Given the description of an element on the screen output the (x, y) to click on. 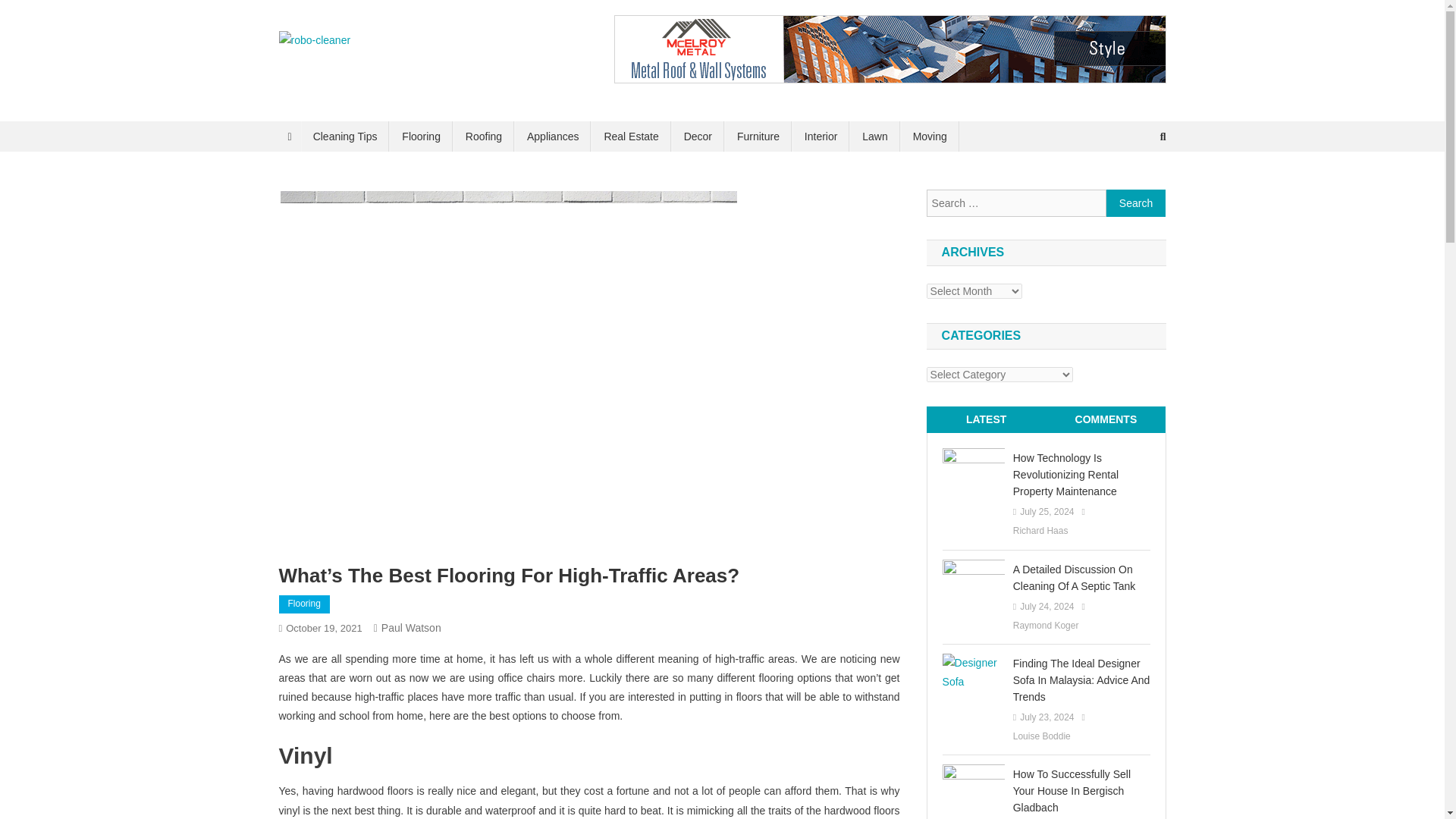
Search (1136, 203)
Moving (930, 136)
Search (1136, 203)
Paul Watson (411, 627)
Real Estate (630, 136)
Interior (821, 136)
Flooring (304, 604)
Lawn (874, 136)
Roofing (482, 136)
Furniture (758, 136)
Search (1133, 186)
Search (1136, 203)
robo-cleaner (352, 64)
LATEST (986, 419)
Cleaning Tips (345, 136)
